Given the description of an element on the screen output the (x, y) to click on. 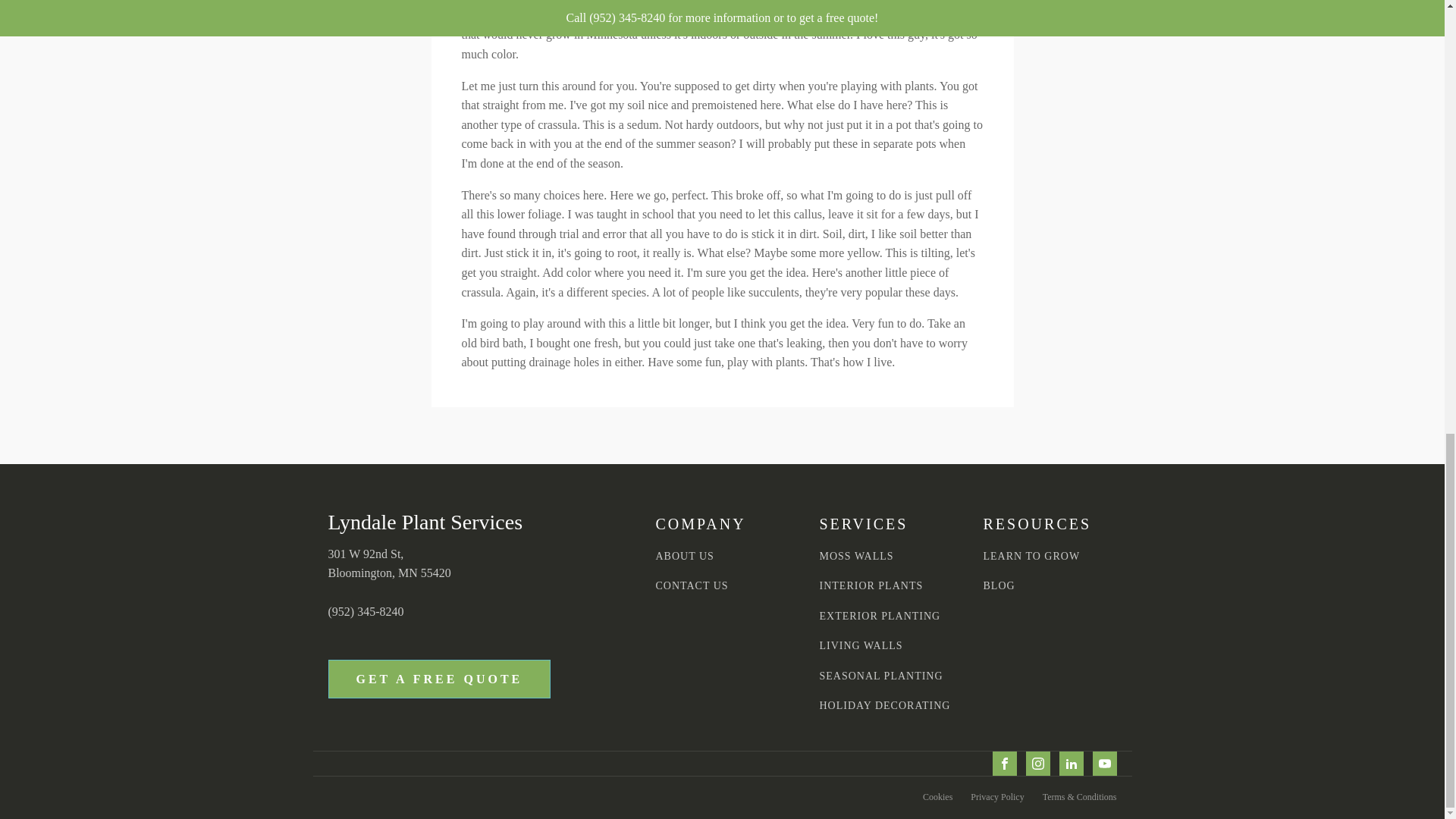
CONTACT US (691, 585)
HOLIDAY DECORATING (884, 705)
LEARN TO GROW (1031, 555)
LIVING WALLS (860, 645)
ABOUT US (684, 555)
INTERIOR PLANTS (870, 585)
EXTERIOR PLANTING (879, 615)
Cookies (937, 797)
Privacy Policy (997, 797)
MOSS WALLS (855, 555)
BLOG (998, 585)
SEASONAL PLANTING (880, 675)
GET A FREE QUOTE (438, 679)
